Given the description of an element on the screen output the (x, y) to click on. 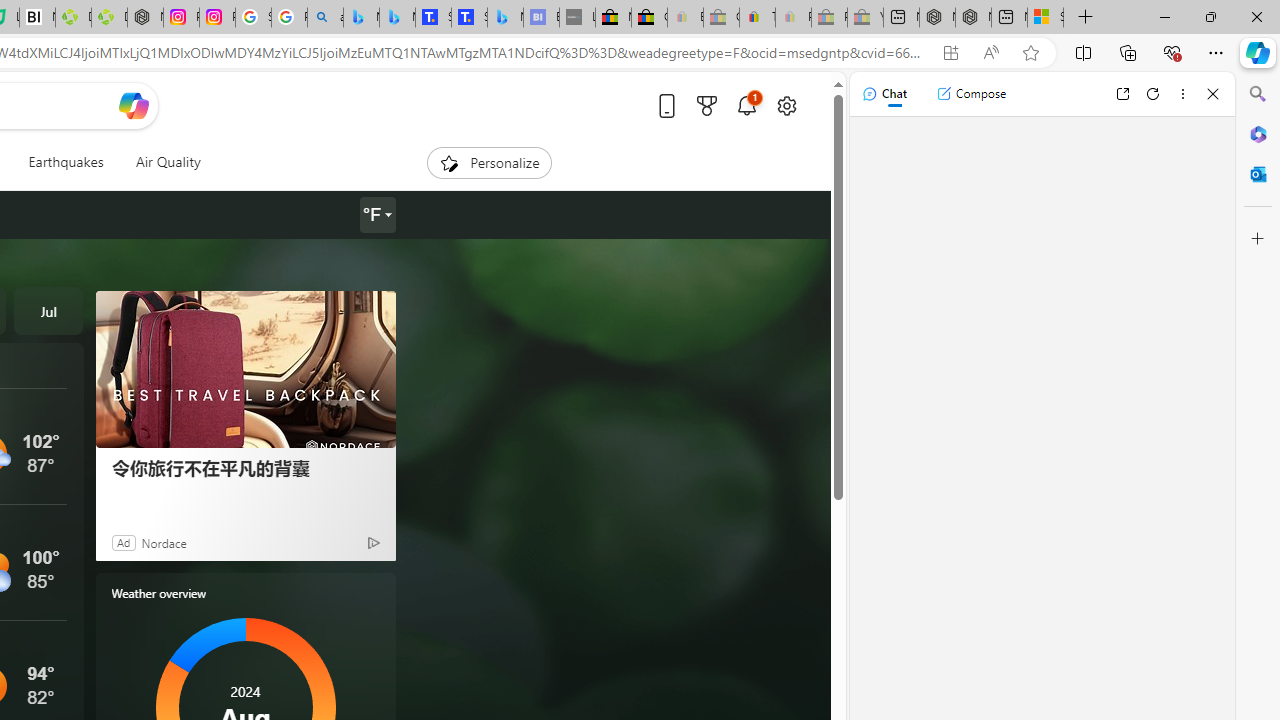
Yard, Garden & Outdoor Living - Sleeping (865, 17)
Weather settings (376, 215)
Safety in Our Products - Google Safety Center (253, 17)
Compose (971, 93)
Shangri-La Bangkok, Hotel reviews and Room rates (469, 17)
